Given the description of an element on the screen output the (x, y) to click on. 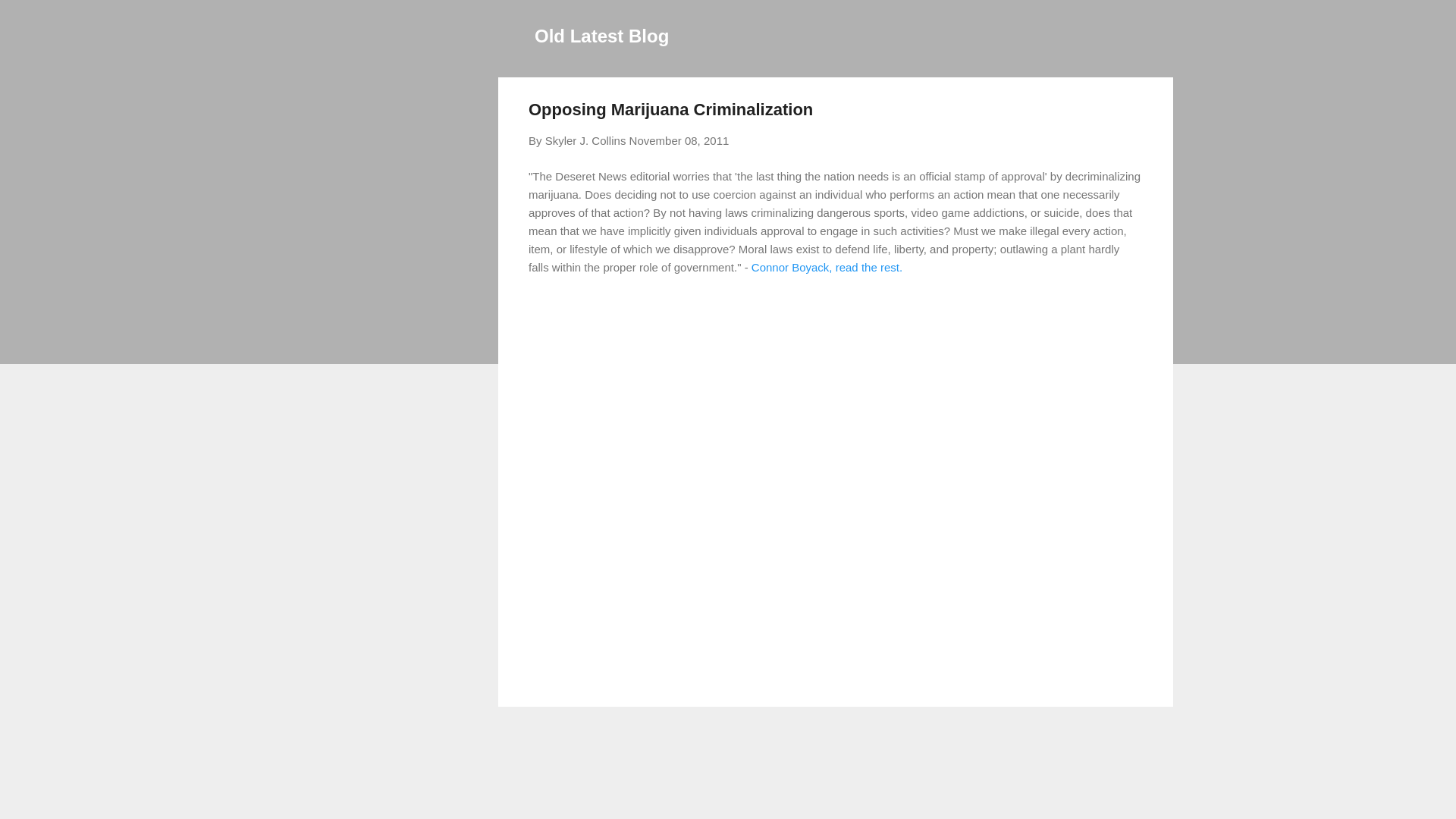
Connor Boyack, read the rest. (826, 267)
Old Latest Blog (601, 35)
November 08, 2011 (678, 140)
Search (29, 18)
permanent link (678, 140)
